Given the description of an element on the screen output the (x, y) to click on. 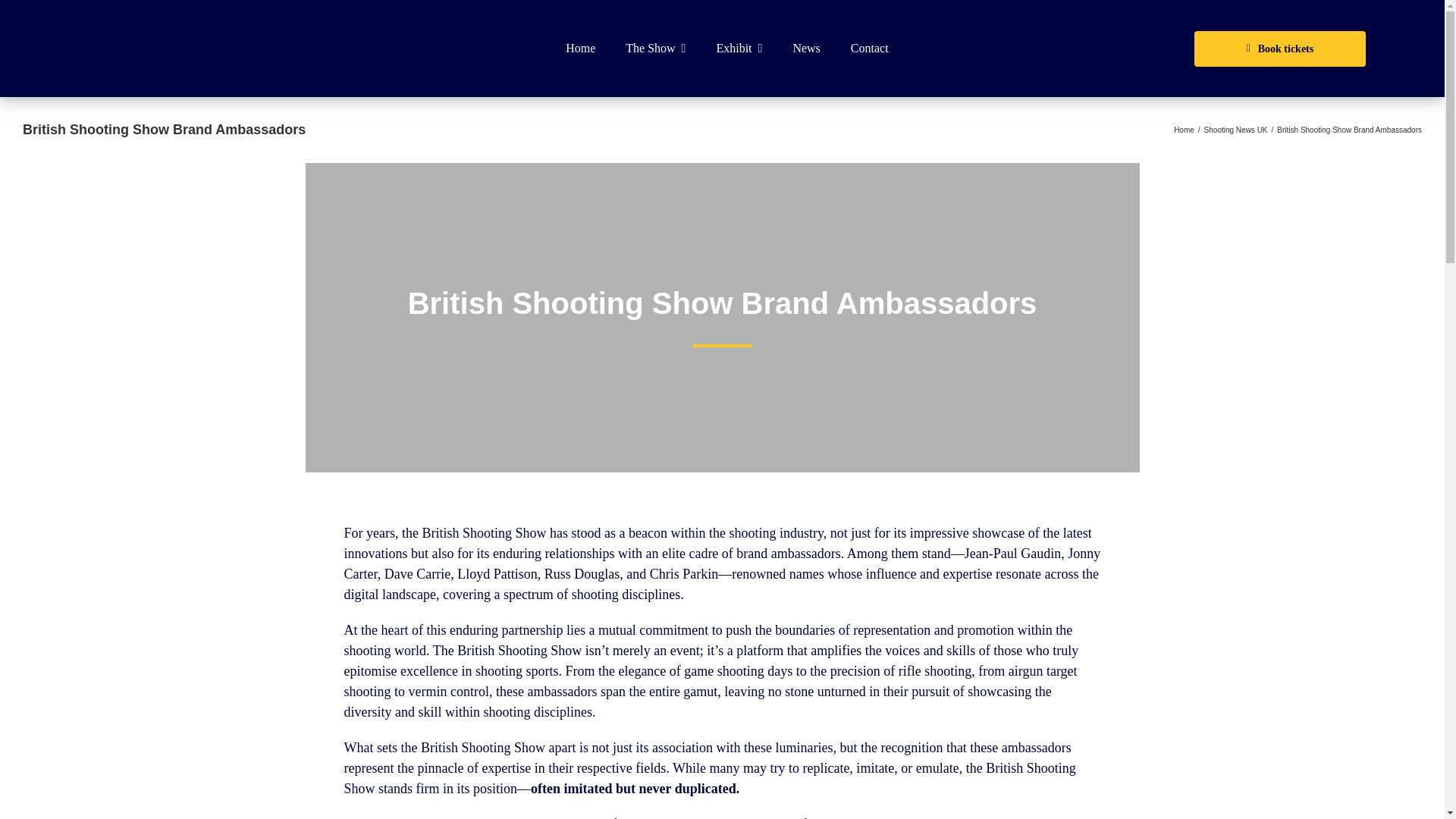
The Show (655, 47)
News (805, 47)
Shooting News UK (1236, 130)
Exhibit (738, 47)
Home (1183, 130)
Book tickets to the British Shooting Show (1279, 48)
Contact (869, 47)
Book tickets (1279, 48)
Home (580, 47)
